Given the description of an element on the screen output the (x, y) to click on. 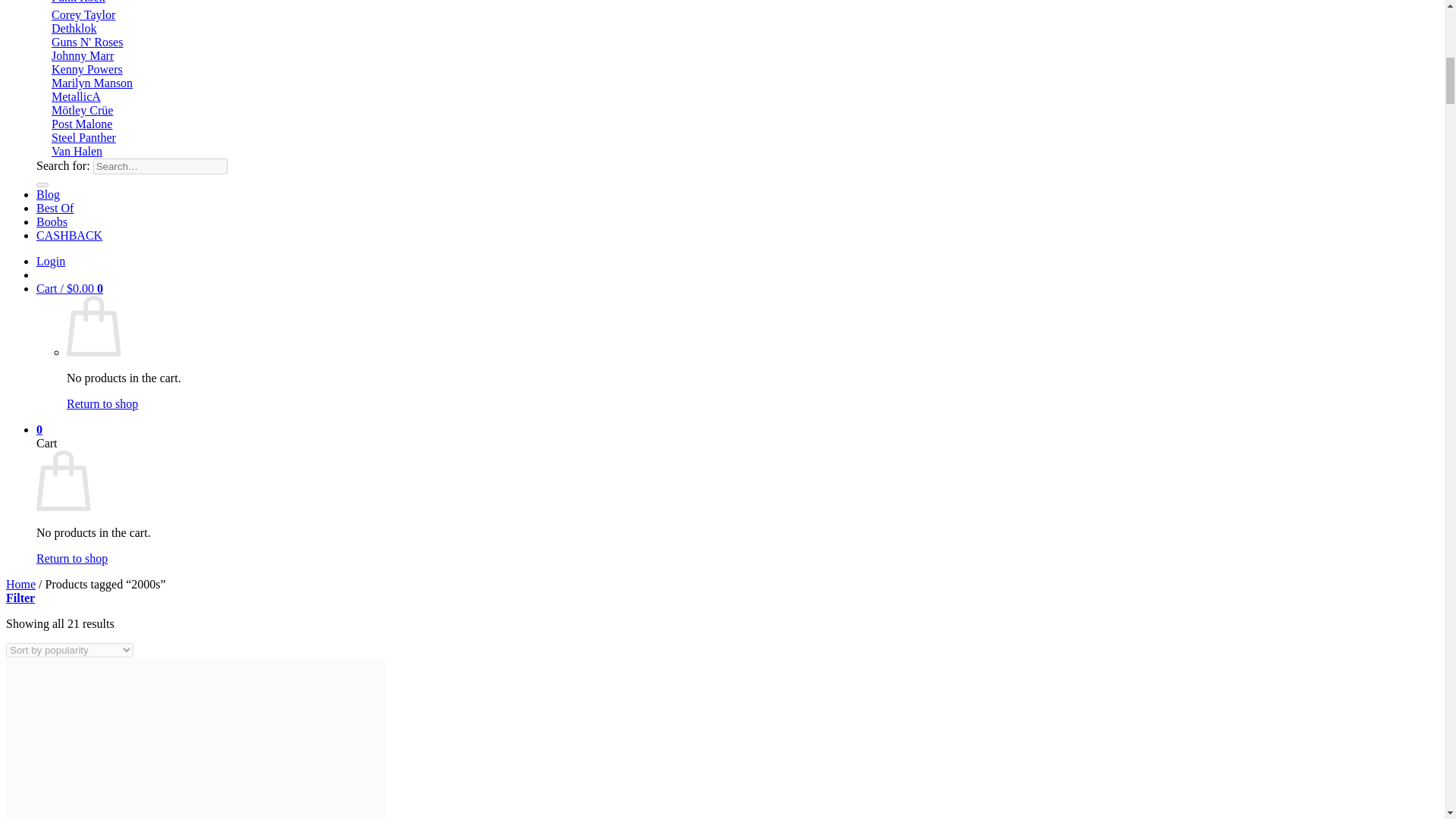
Punk Rock (77, 2)
Dethklok (73, 28)
Steel Panther (83, 137)
Van Halen (75, 151)
Search (42, 184)
Login (50, 260)
Kenny Powers (86, 69)
Johnny Marr (81, 55)
Marilyn Manson (91, 82)
MetallicA (75, 96)
